Given the description of an element on the screen output the (x, y) to click on. 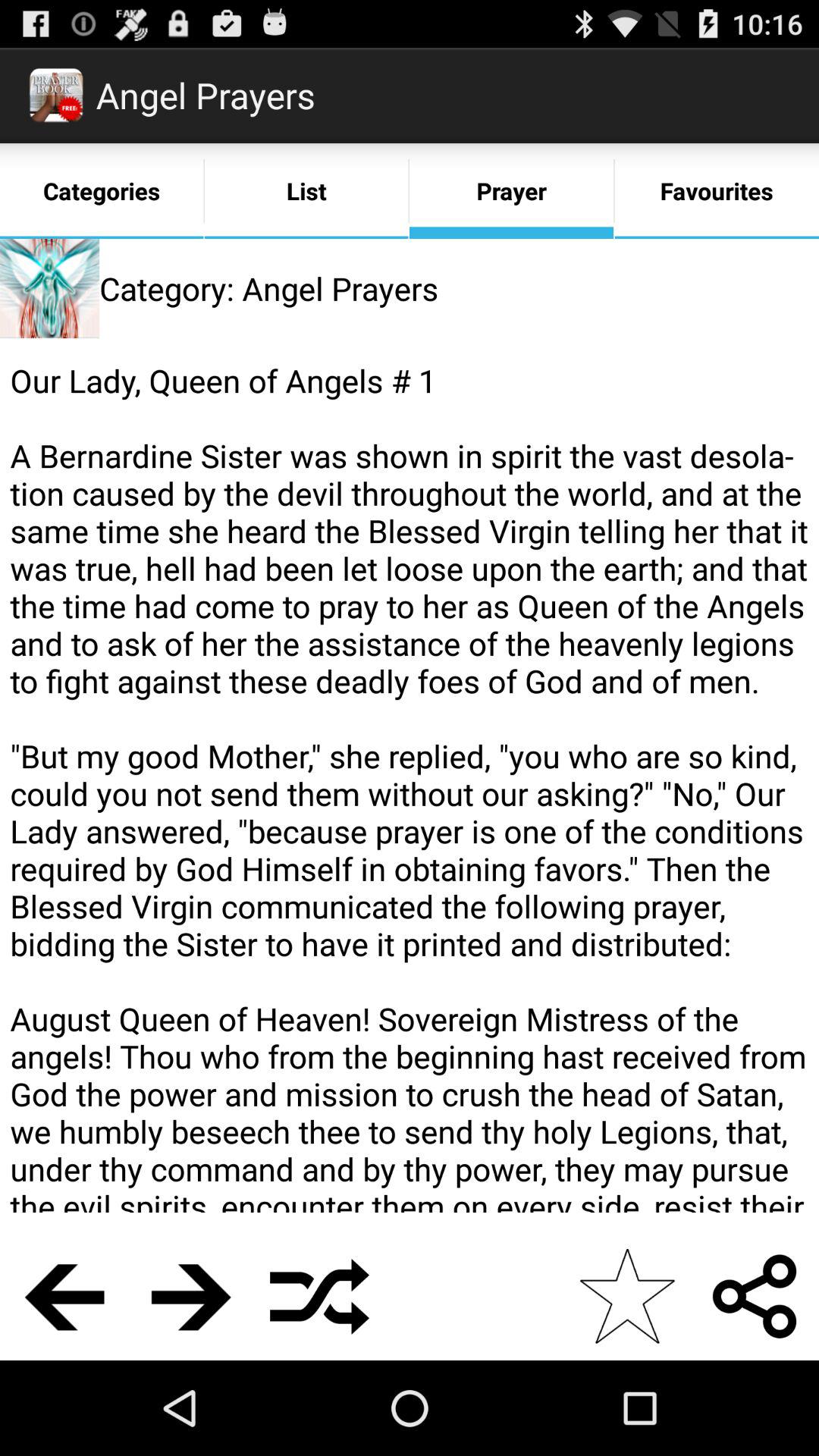
go to the previous content page (63, 1296)
